Given the description of an element on the screen output the (x, y) to click on. 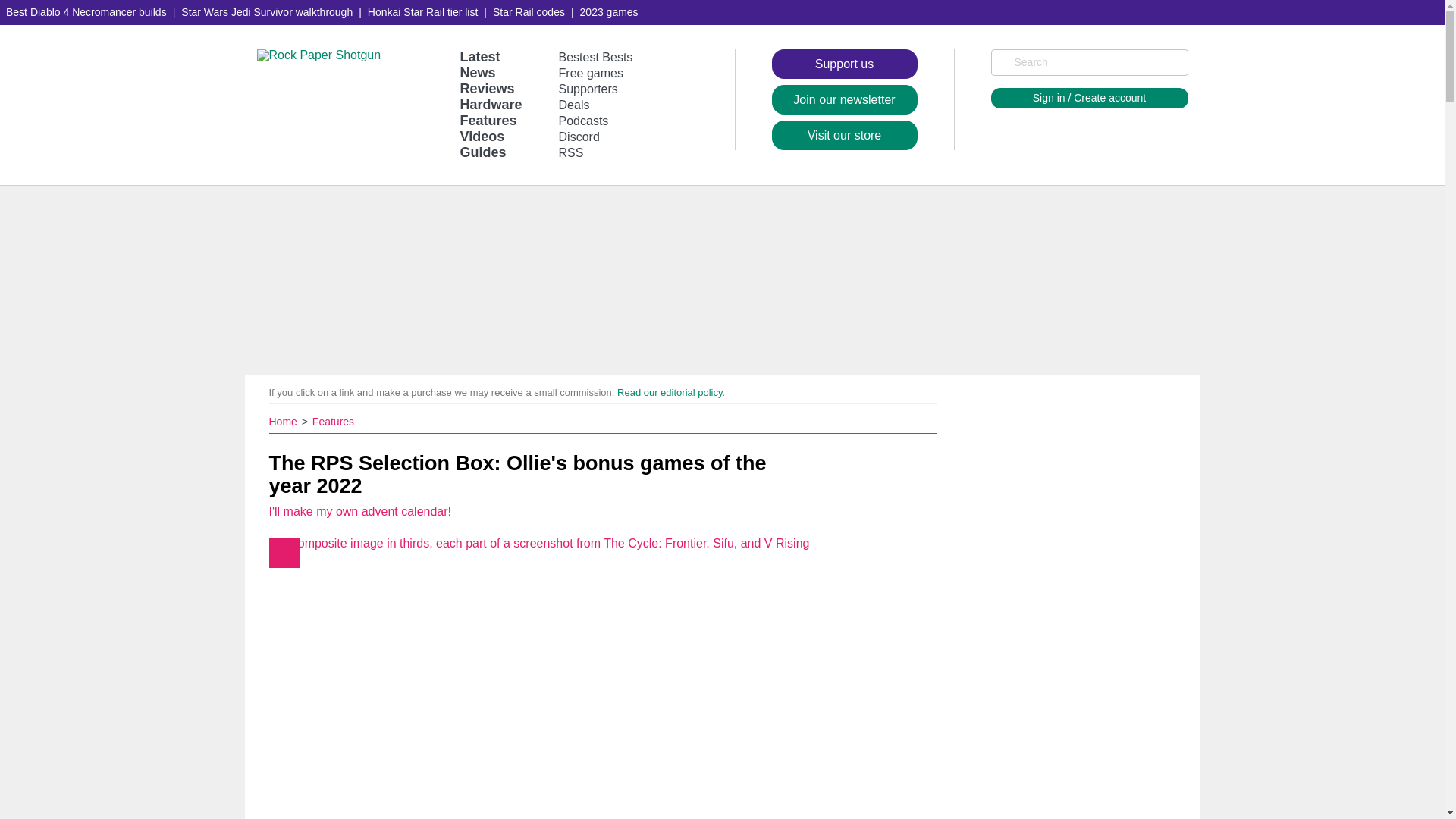
Podcasts (583, 120)
Podcasts (583, 120)
2023 games (609, 12)
Features (488, 120)
Videos (481, 136)
Supporters (588, 88)
Honkai Star Rail tier list (422, 12)
Supporters (588, 88)
Support us (844, 63)
Star Wars Jedi Survivor walkthrough (266, 12)
